Given the description of an element on the screen output the (x, y) to click on. 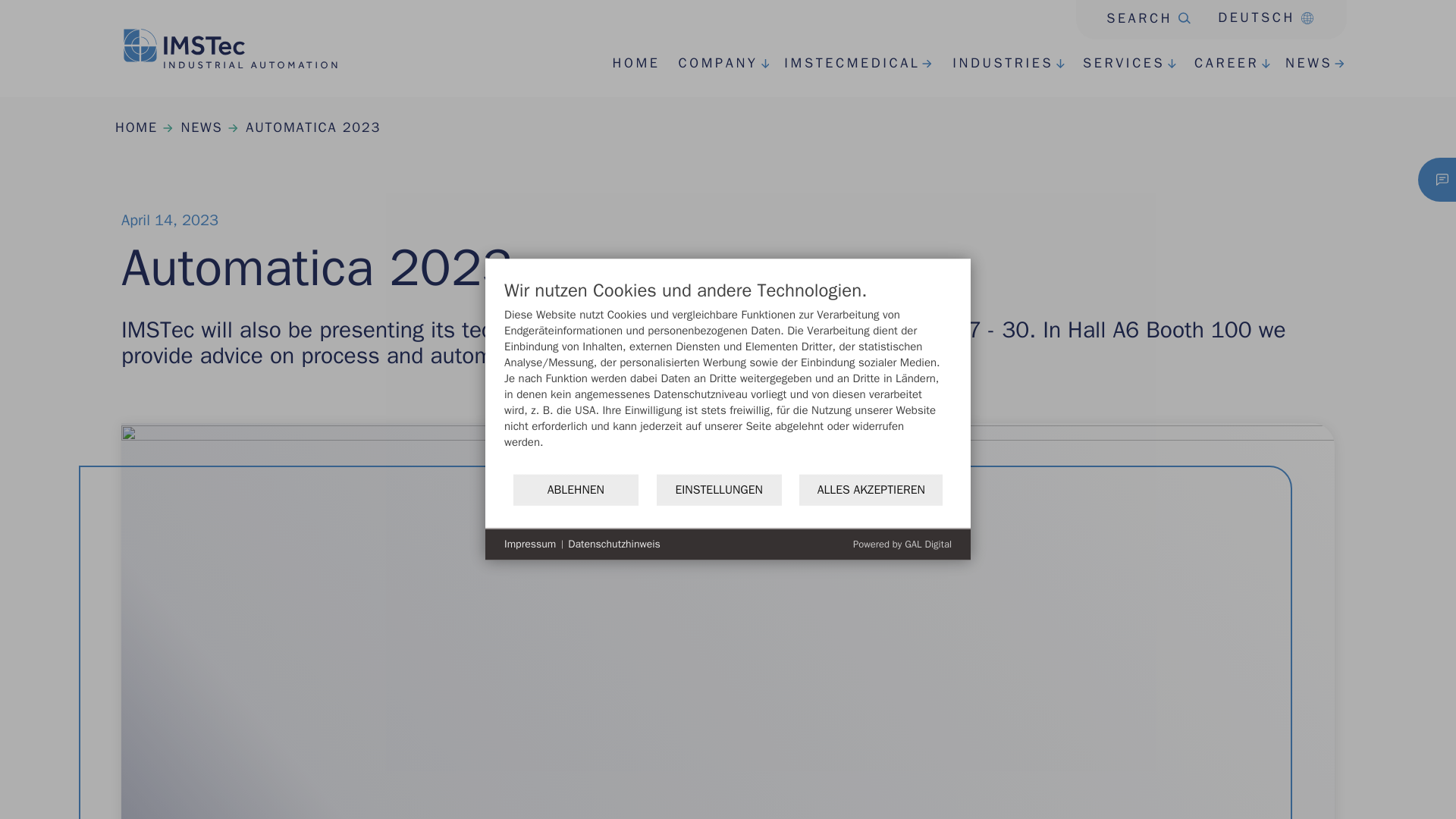
NEWS (1300, 63)
SEARCH (1133, 13)
Automatica 2023 (313, 127)
COMPANY (708, 63)
DEUTSCH (1259, 18)
CAREER (971, 75)
INDUSTRIES (1217, 63)
HOME (993, 63)
SERVICES (628, 63)
